Given the description of an element on the screen output the (x, y) to click on. 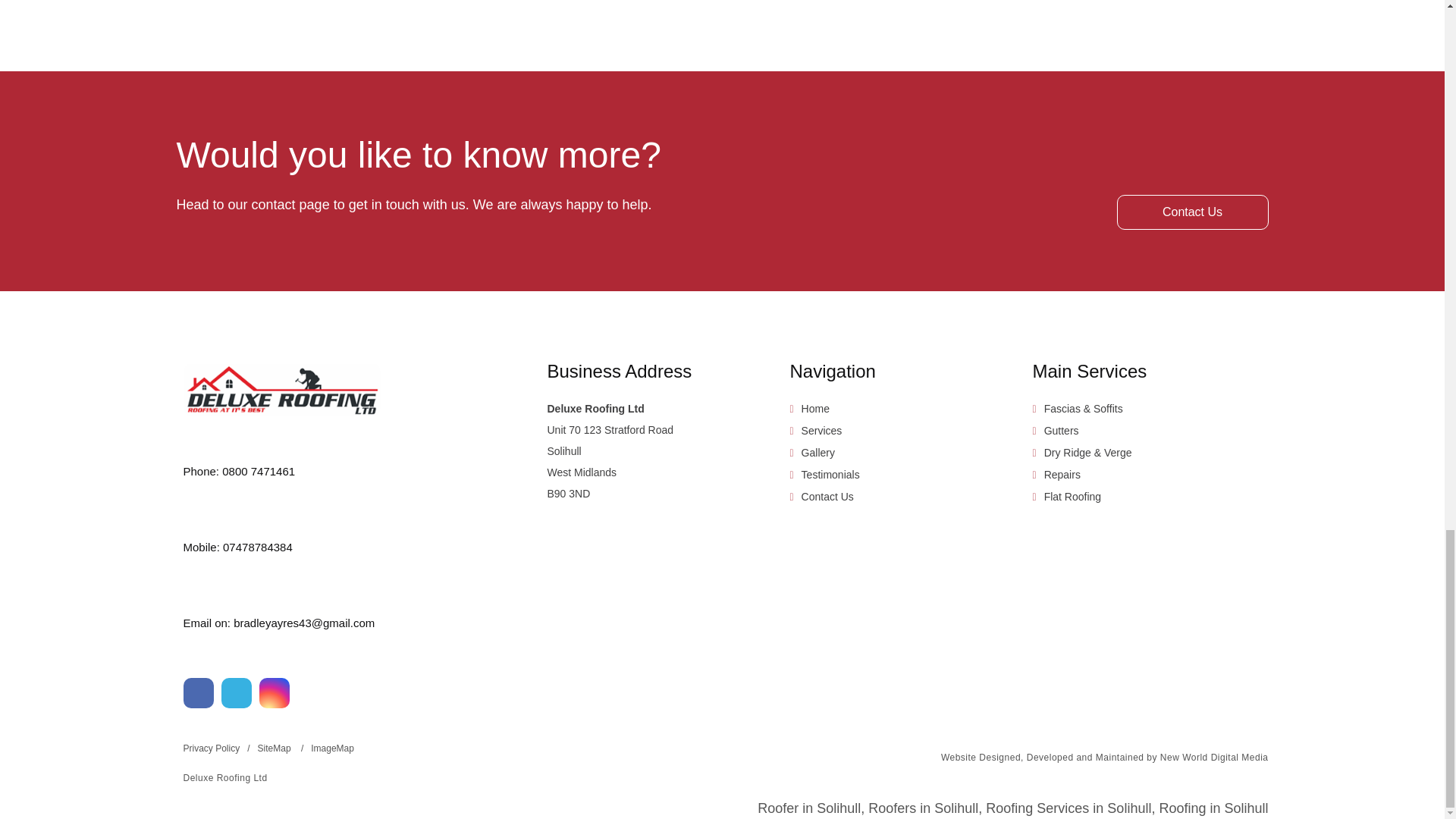
ImageMap (332, 748)
Home (815, 408)
Testimonials (831, 474)
Phone: 0800 7471461 (347, 465)
Contact Us (1192, 212)
Services (822, 430)
Gallery (818, 452)
Privacy Policy (216, 748)
Contact Us (827, 496)
SiteMap (280, 748)
